Given the description of an element on the screen output the (x, y) to click on. 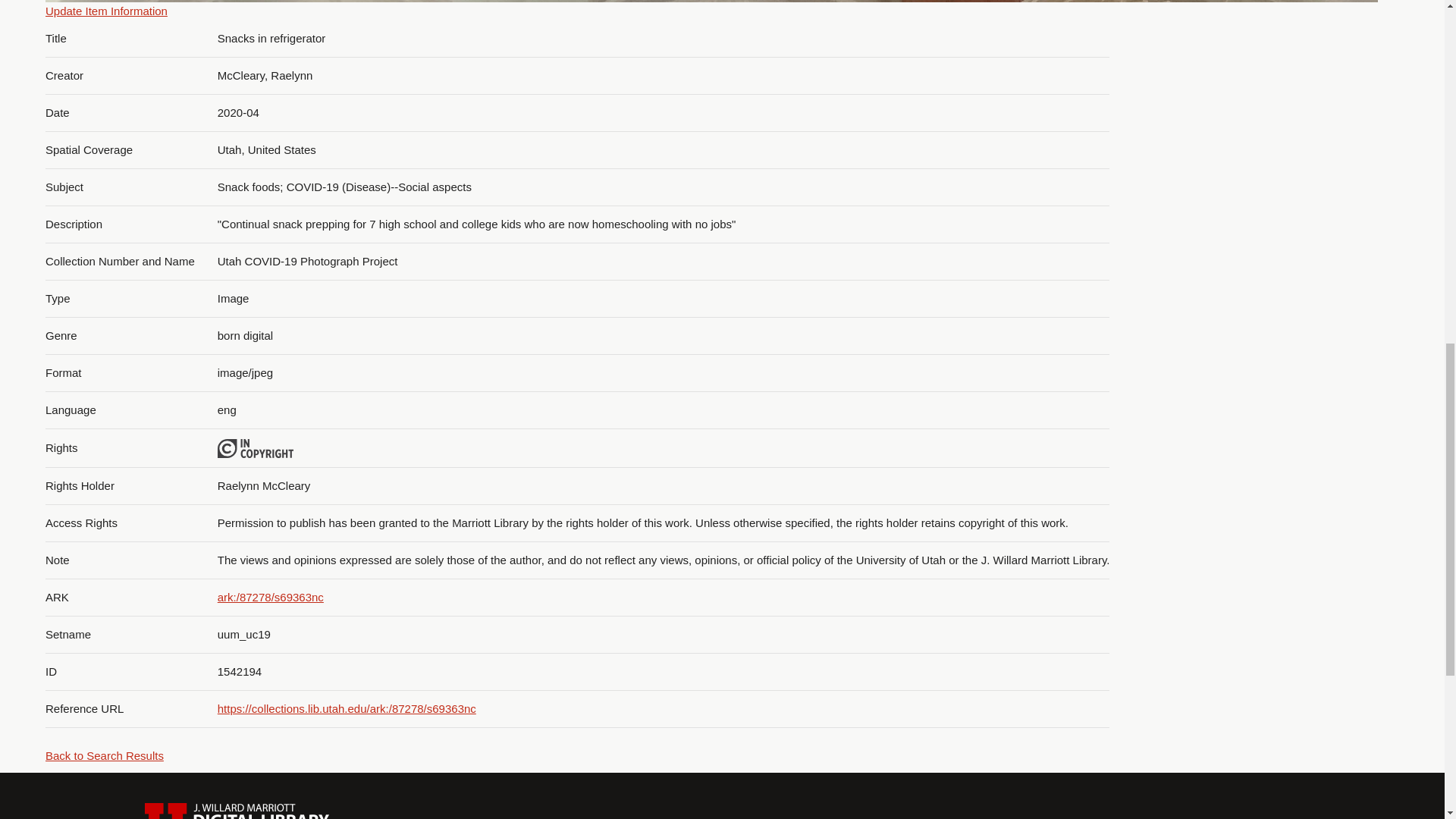
Update Item Information (106, 10)
IN COPYRIGHT (255, 448)
Back to Search Results (104, 755)
